Given the description of an element on the screen output the (x, y) to click on. 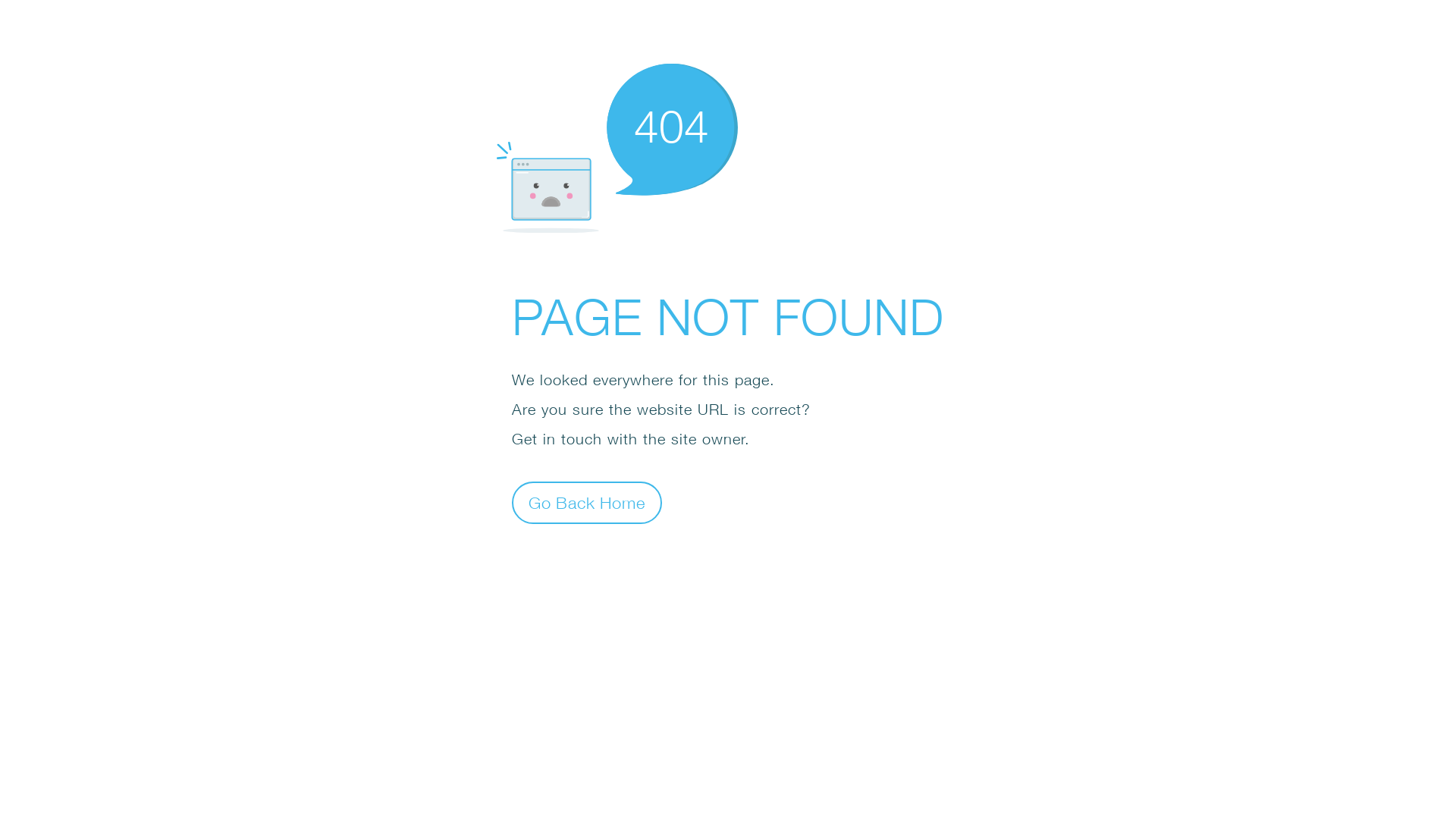
Go Back Home Element type: text (586, 502)
